Given the description of an element on the screen output the (x, y) to click on. 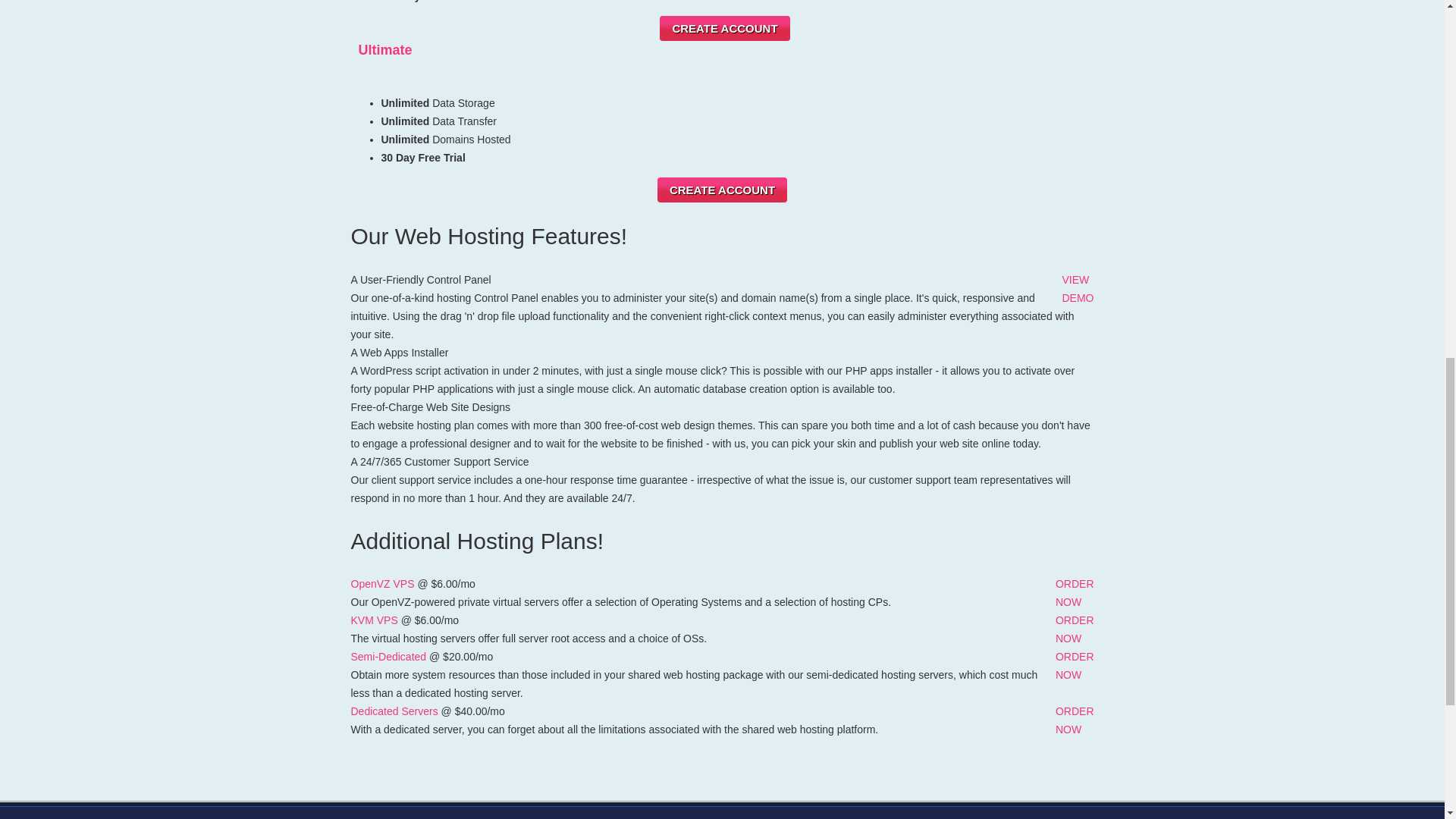
Ultimate (385, 49)
CREATE ACCOUNT (1077, 288)
OpenVZ VPS (724, 27)
CREATE ACCOUNT (381, 583)
